Given the description of an element on the screen output the (x, y) to click on. 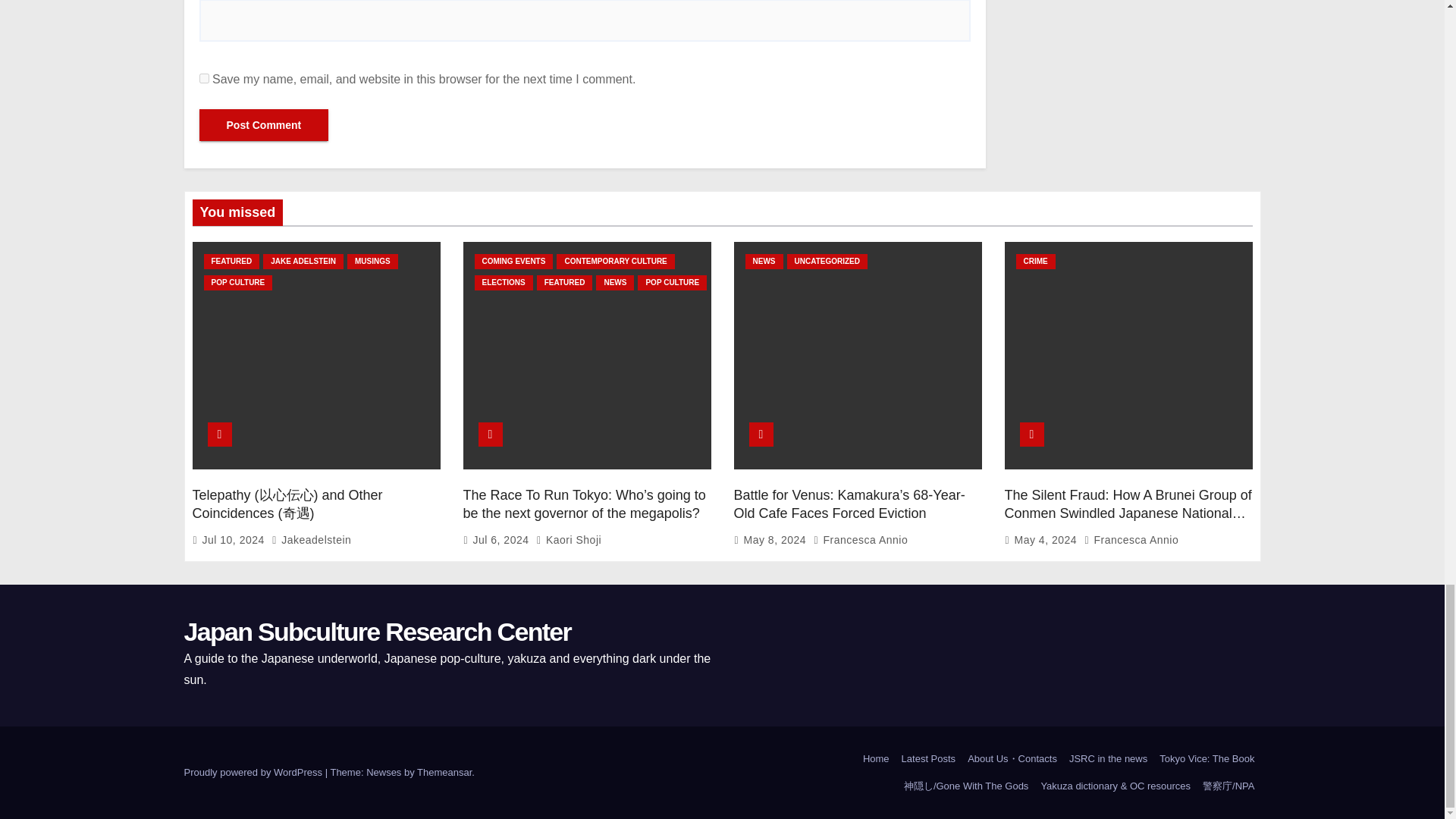
Post Comment (263, 124)
yes (203, 78)
Home (876, 759)
